Given the description of an element on the screen output the (x, y) to click on. 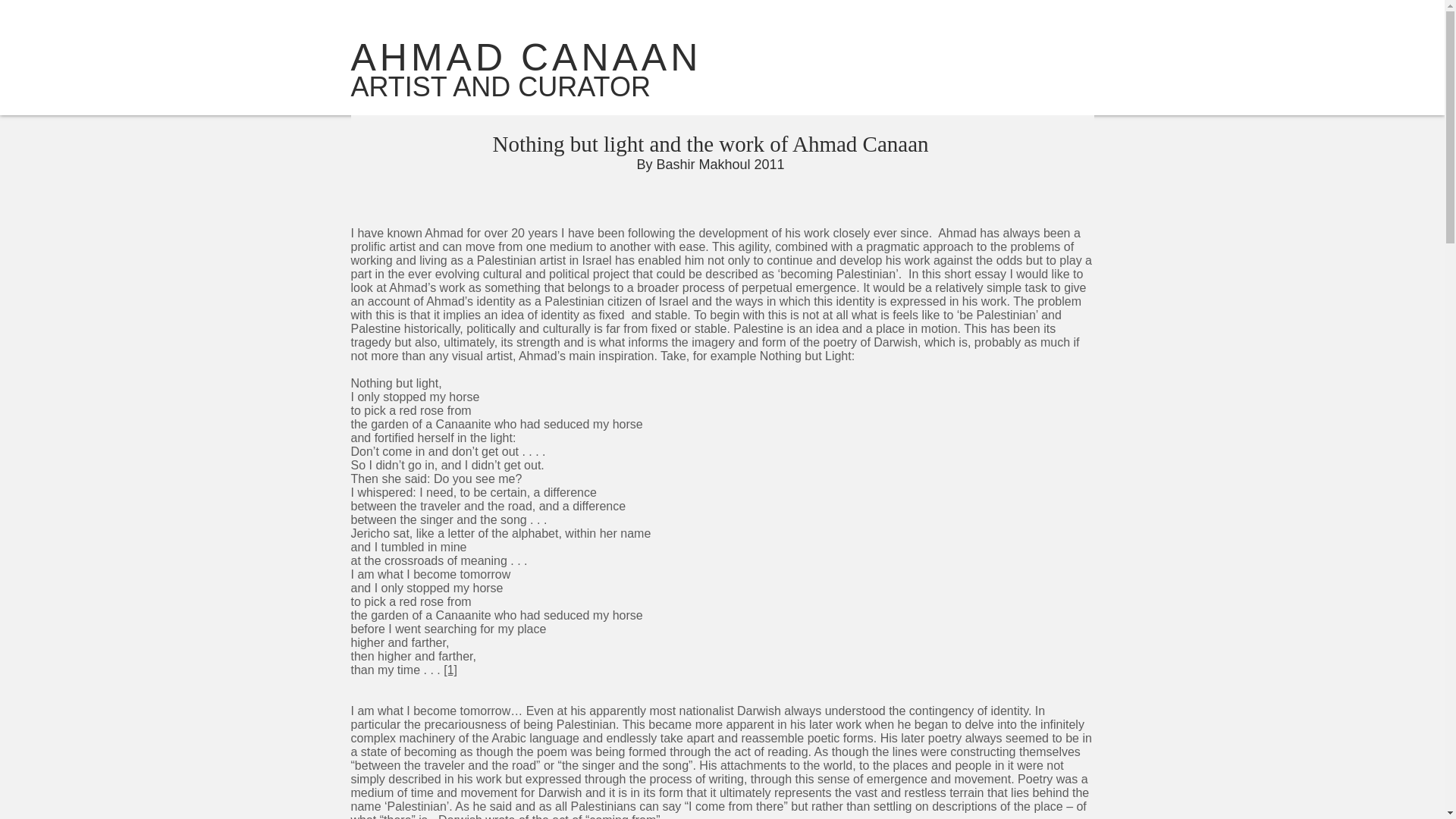
ARTIST AND CURATOR (499, 86)
AHMAD CANAAN (525, 57)
